Given the description of an element on the screen output the (x, y) to click on. 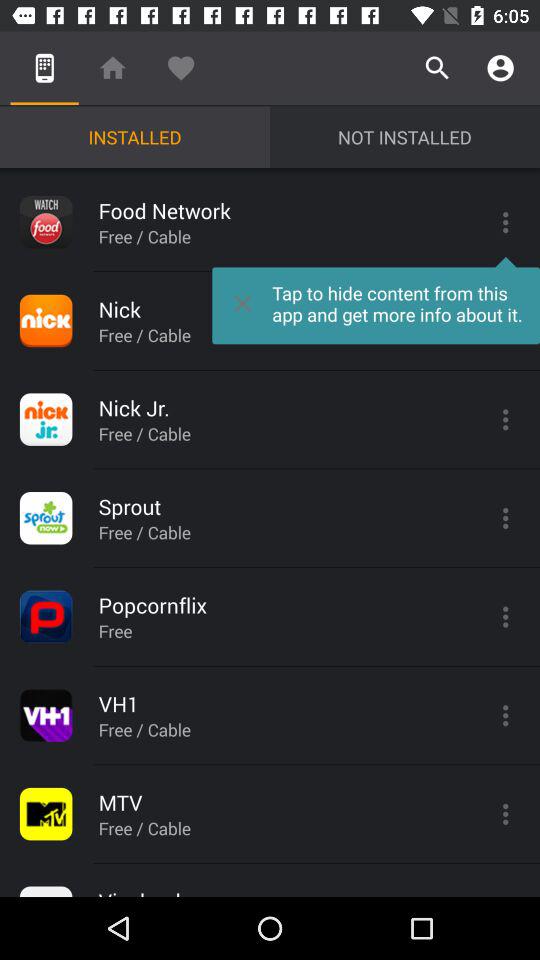
swipe until the tap to hide icon (376, 300)
